Given the description of an element on the screen output the (x, y) to click on. 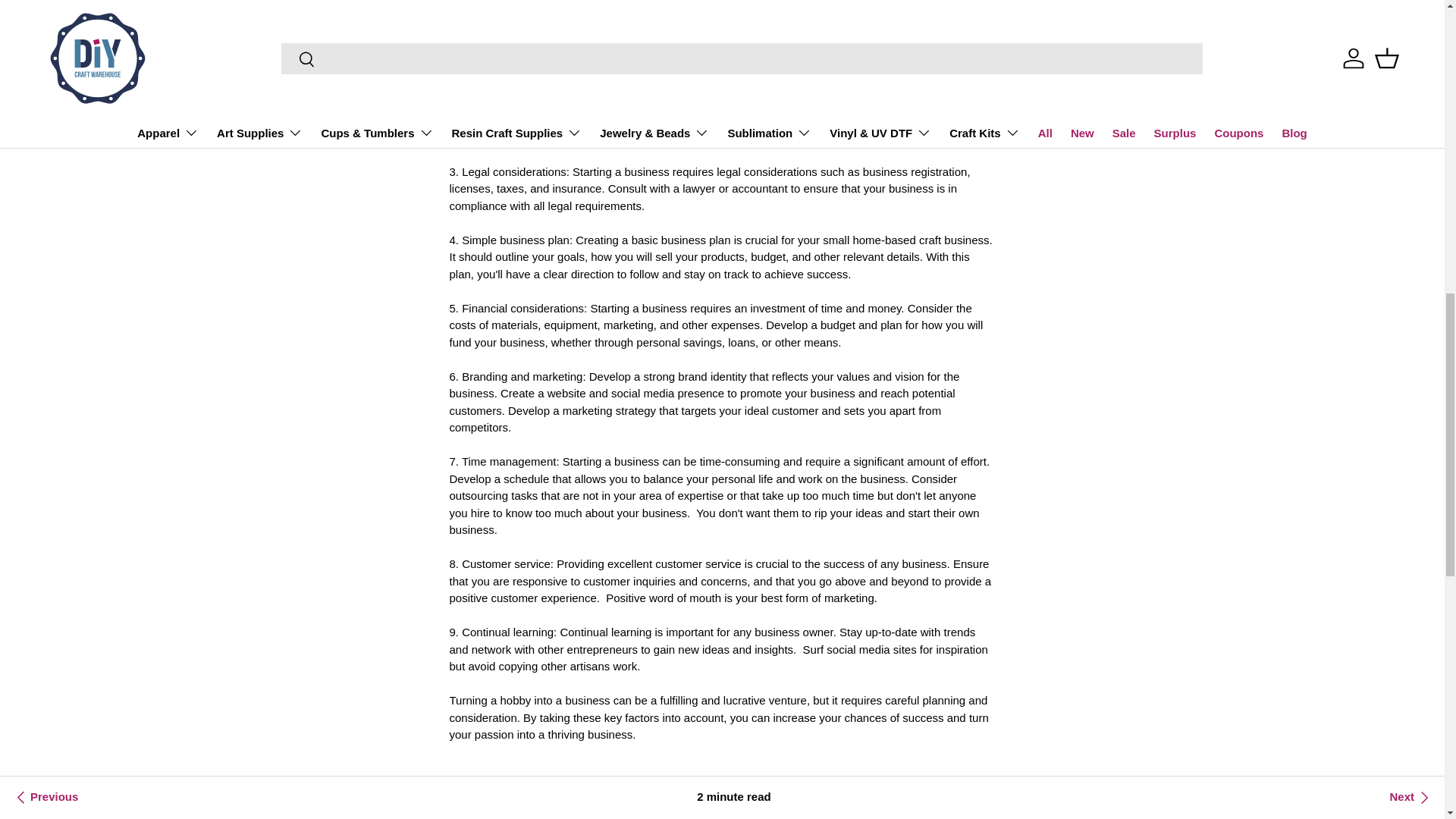
Share on Facebook (539, 801)
Tweet on X (505, 801)
Pin on Pinterest (572, 801)
